Given the description of an element on the screen output the (x, y) to click on. 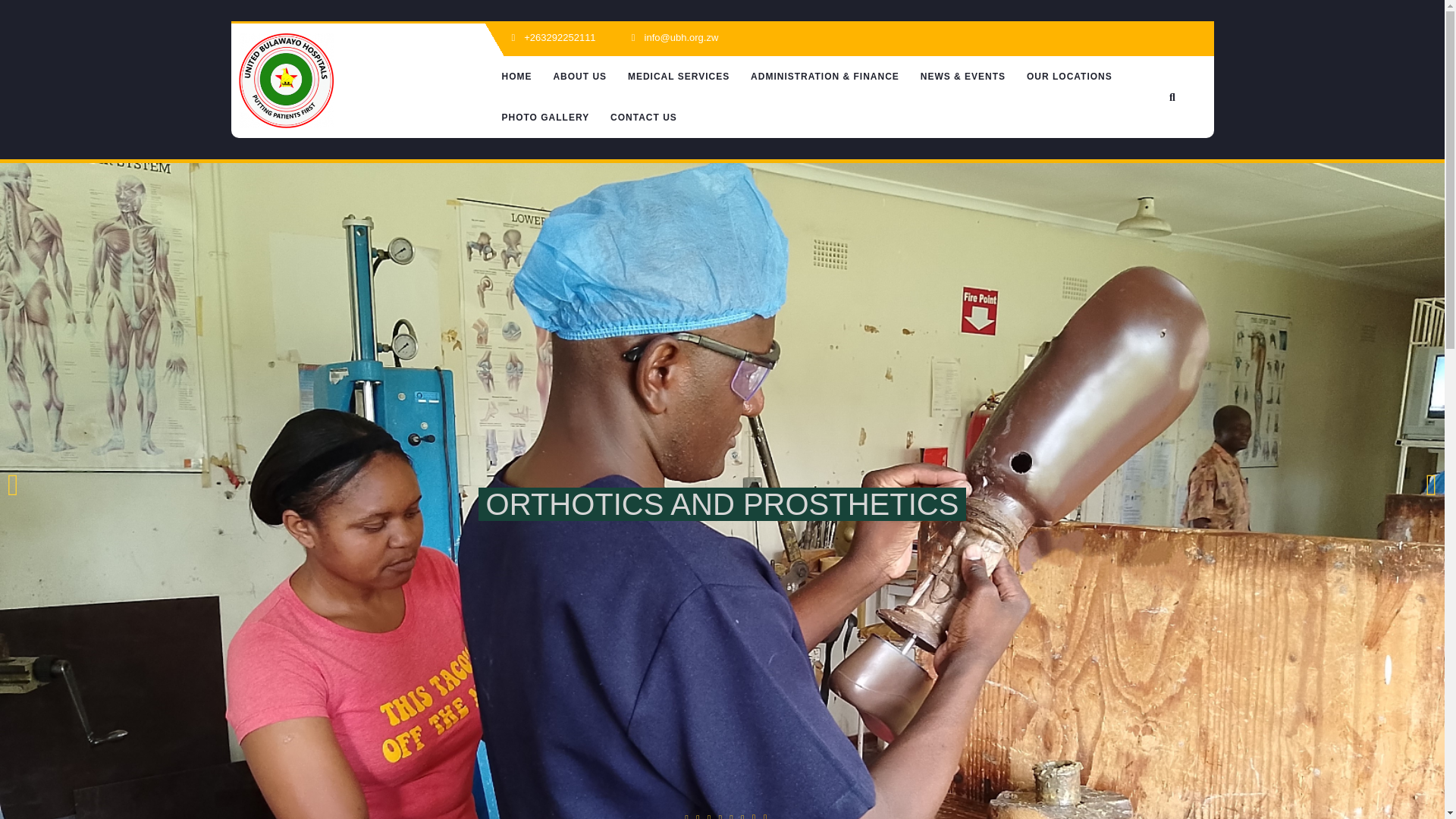
HOME (517, 76)
CONTACT US (643, 117)
OUR LOCATIONS (1069, 76)
MEDICAL SERVICES (678, 76)
ABOUT US (579, 76)
PHOTO GALLERY (545, 117)
